Given the description of an element on the screen output the (x, y) to click on. 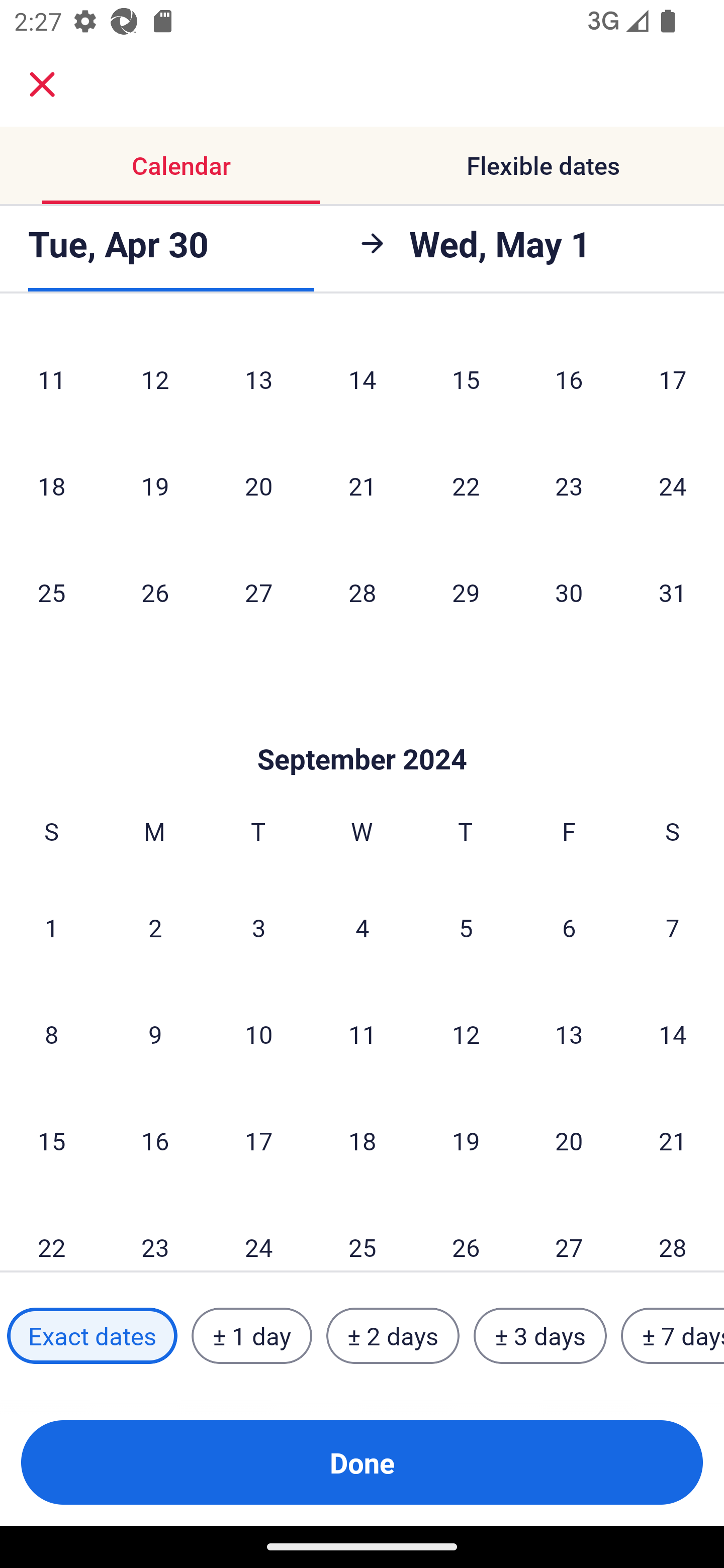
close. (42, 84)
Flexible dates (542, 164)
11 Sunday, August 11, 2024 (51, 379)
12 Monday, August 12, 2024 (155, 379)
13 Tuesday, August 13, 2024 (258, 379)
14 Wednesday, August 14, 2024 (362, 379)
15 Thursday, August 15, 2024 (465, 379)
16 Friday, August 16, 2024 (569, 379)
17 Saturday, August 17, 2024 (672, 379)
18 Sunday, August 18, 2024 (51, 485)
19 Monday, August 19, 2024 (155, 485)
20 Tuesday, August 20, 2024 (258, 485)
21 Wednesday, August 21, 2024 (362, 485)
22 Thursday, August 22, 2024 (465, 485)
23 Friday, August 23, 2024 (569, 485)
24 Saturday, August 24, 2024 (672, 485)
25 Sunday, August 25, 2024 (51, 592)
26 Monday, August 26, 2024 (155, 592)
27 Tuesday, August 27, 2024 (258, 592)
28 Wednesday, August 28, 2024 (362, 592)
29 Thursday, August 29, 2024 (465, 592)
30 Friday, August 30, 2024 (569, 592)
31 Saturday, August 31, 2024 (672, 592)
Skip to Done (362, 728)
1 Sunday, September 1, 2024 (51, 927)
2 Monday, September 2, 2024 (155, 927)
3 Tuesday, September 3, 2024 (258, 927)
4 Wednesday, September 4, 2024 (362, 927)
5 Thursday, September 5, 2024 (465, 927)
6 Friday, September 6, 2024 (569, 927)
7 Saturday, September 7, 2024 (672, 927)
8 Sunday, September 8, 2024 (51, 1034)
9 Monday, September 9, 2024 (155, 1034)
10 Tuesday, September 10, 2024 (258, 1034)
11 Wednesday, September 11, 2024 (362, 1034)
12 Thursday, September 12, 2024 (465, 1034)
13 Friday, September 13, 2024 (569, 1034)
14 Saturday, September 14, 2024 (672, 1034)
15 Sunday, September 15, 2024 (51, 1140)
16 Monday, September 16, 2024 (155, 1140)
17 Tuesday, September 17, 2024 (258, 1140)
18 Wednesday, September 18, 2024 (362, 1140)
19 Thursday, September 19, 2024 (465, 1140)
20 Friday, September 20, 2024 (569, 1140)
21 Saturday, September 21, 2024 (672, 1140)
22 Sunday, September 22, 2024 (51, 1232)
23 Monday, September 23, 2024 (155, 1232)
24 Tuesday, September 24, 2024 (258, 1232)
25 Wednesday, September 25, 2024 (362, 1232)
26 Thursday, September 26, 2024 (465, 1232)
27 Friday, September 27, 2024 (569, 1232)
28 Saturday, September 28, 2024 (672, 1232)
Exact dates (92, 1335)
± 1 day (251, 1335)
± 2 days (392, 1335)
± 3 days (539, 1335)
± 7 days (672, 1335)
Done (361, 1462)
